Given the description of an element on the screen output the (x, y) to click on. 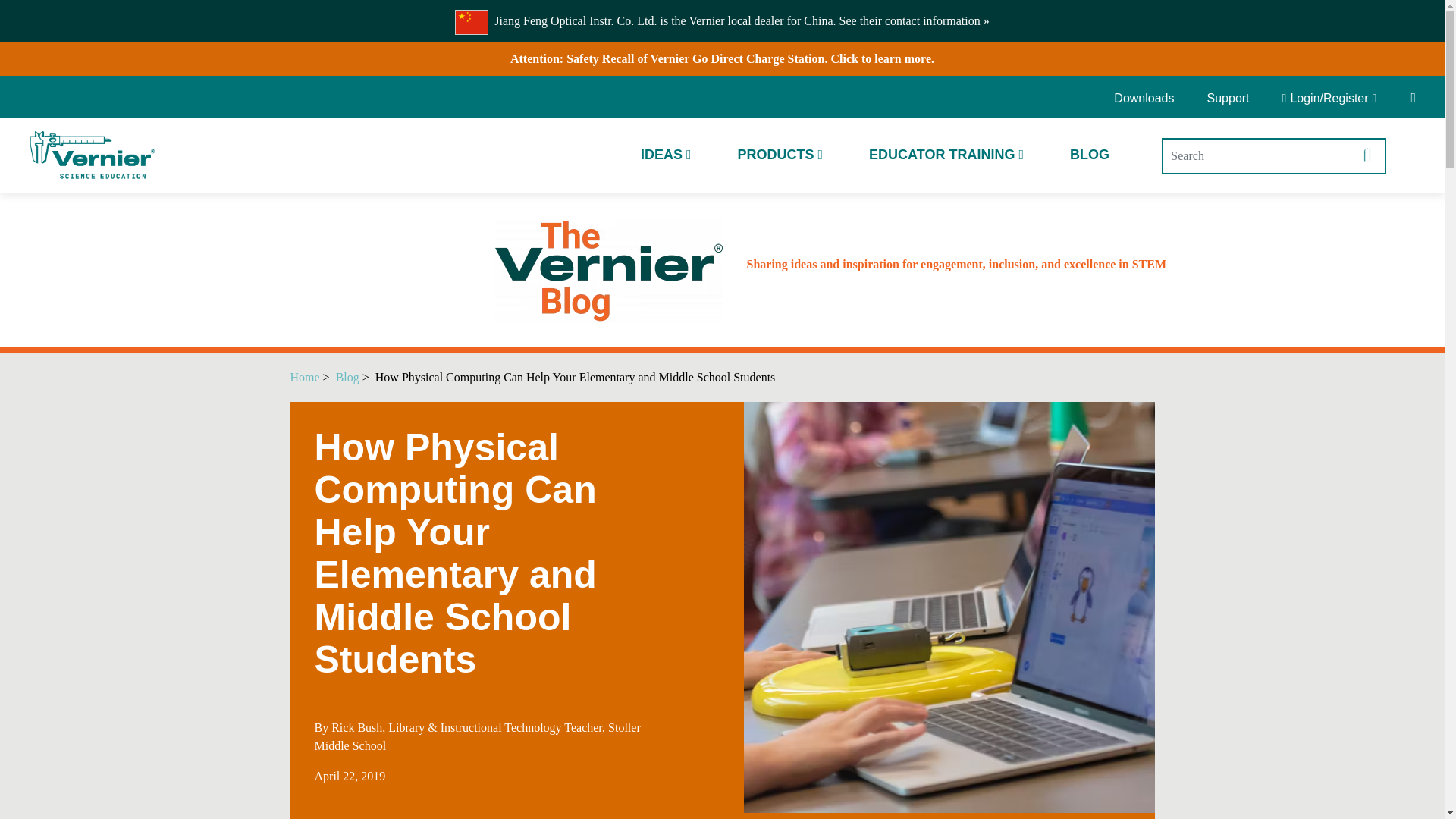
PRODUCTS (779, 154)
Downloads (1149, 98)
Vernier (90, 155)
Support (1227, 98)
IDEAS (665, 154)
